Given the description of an element on the screen output the (x, y) to click on. 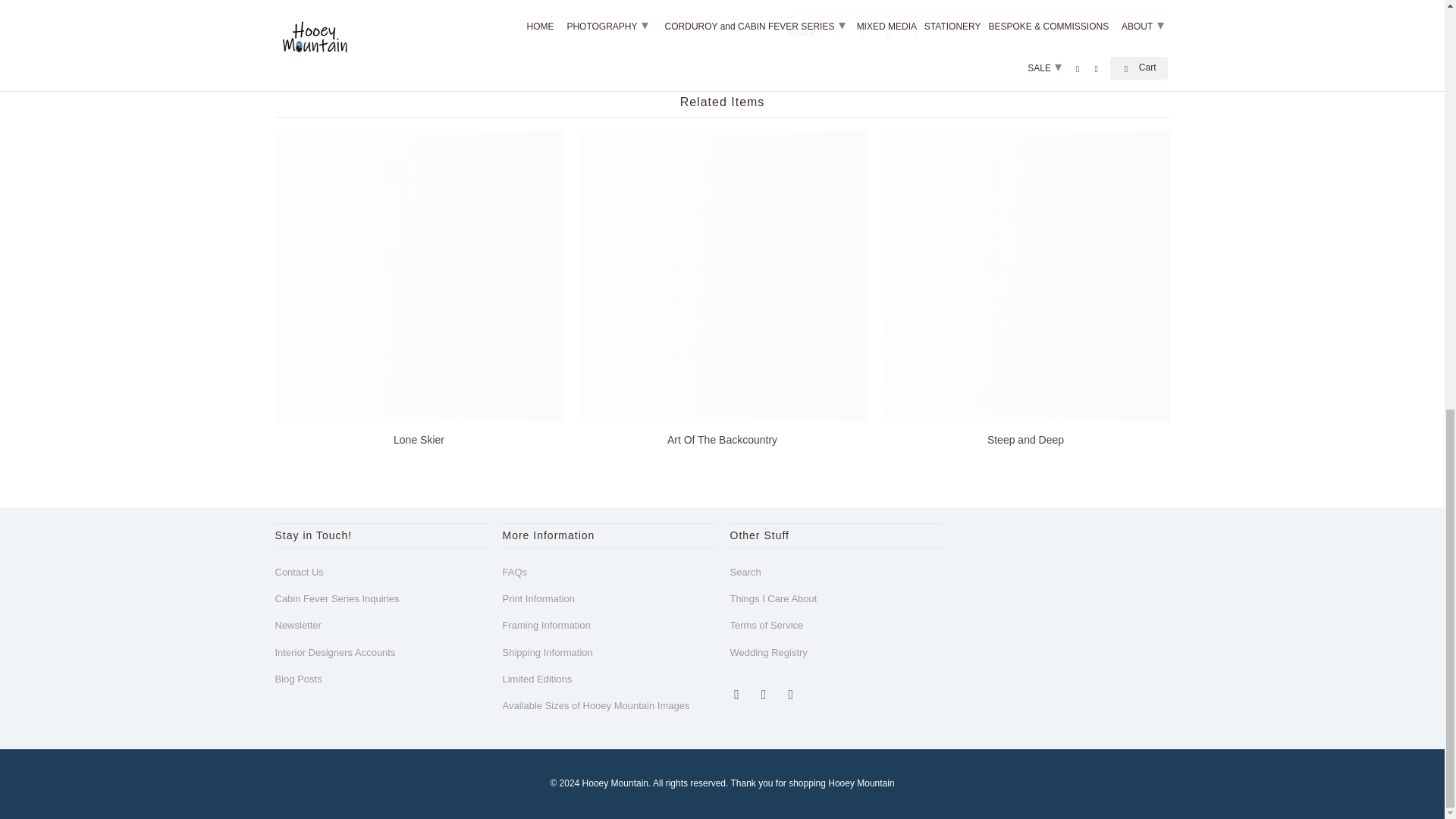
Share this on Facebook (859, 32)
Share this on Pinterest (887, 32)
Share this on Twitter (833, 32)
Email this to a friend (914, 32)
